Given the description of an element on the screen output the (x, y) to click on. 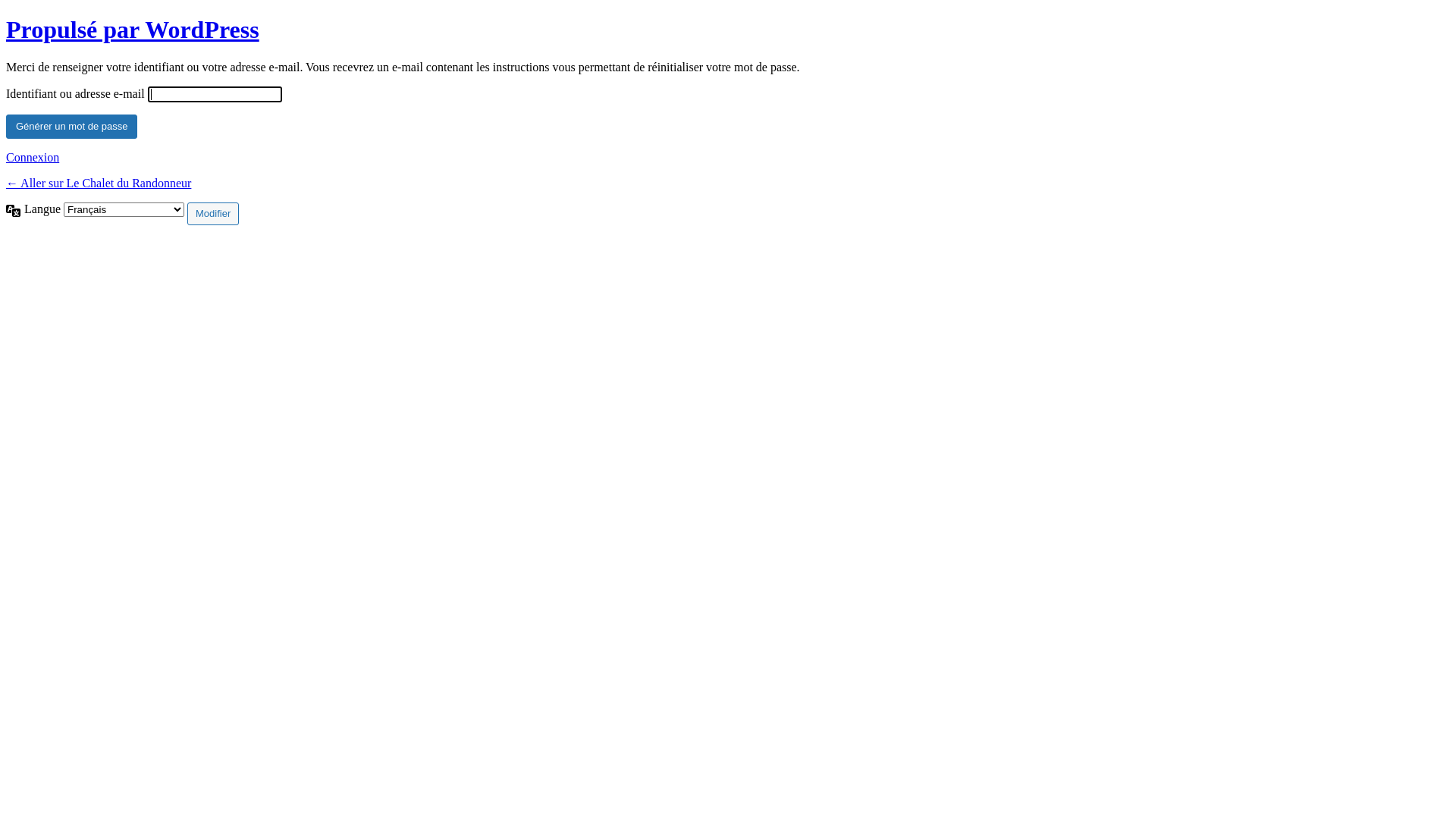
Modifier Element type: text (212, 213)
Connexion Element type: text (32, 156)
